Given the description of an element on the screen output the (x, y) to click on. 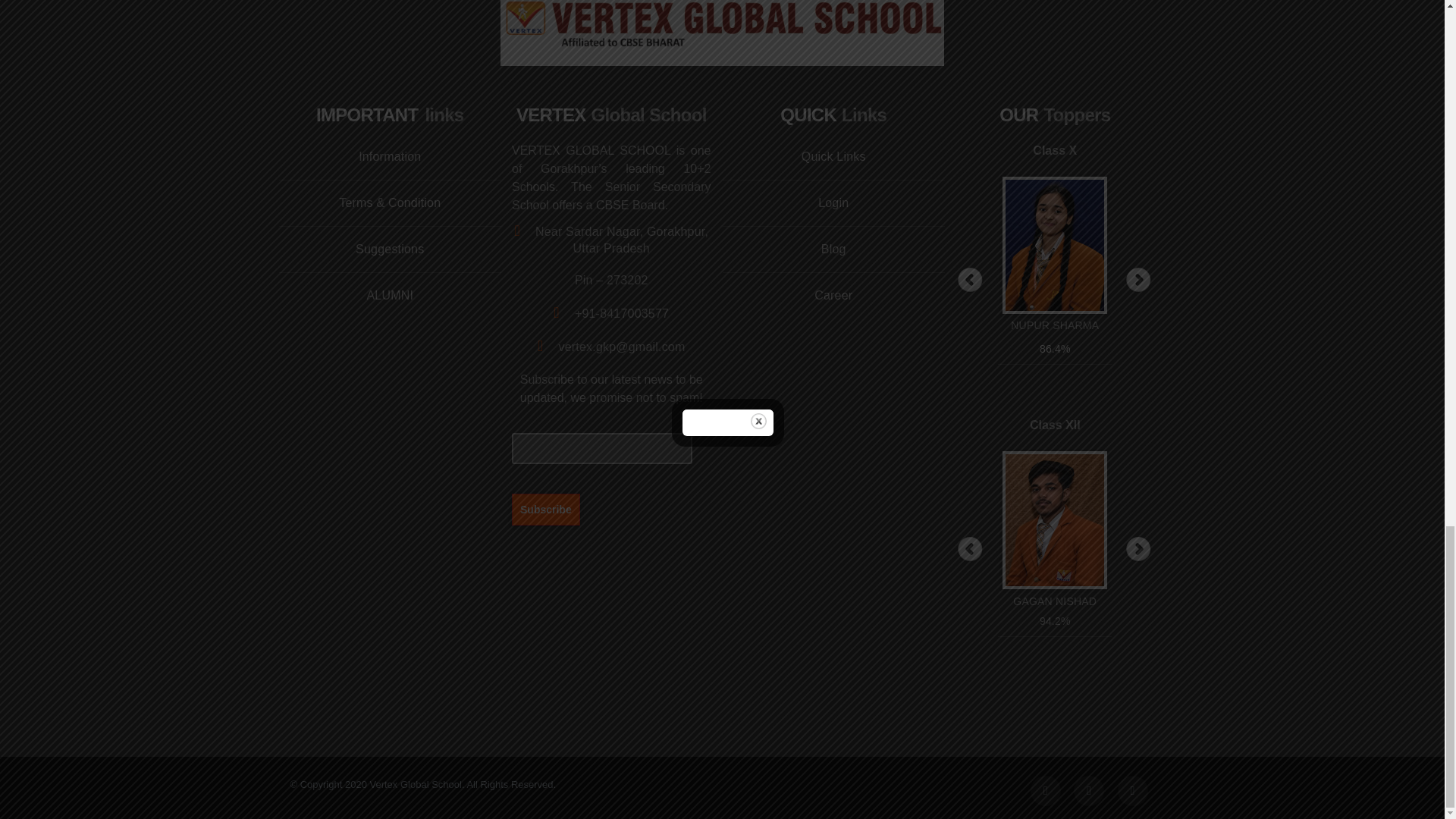
Subscribe (545, 508)
